Given the description of an element on the screen output the (x, y) to click on. 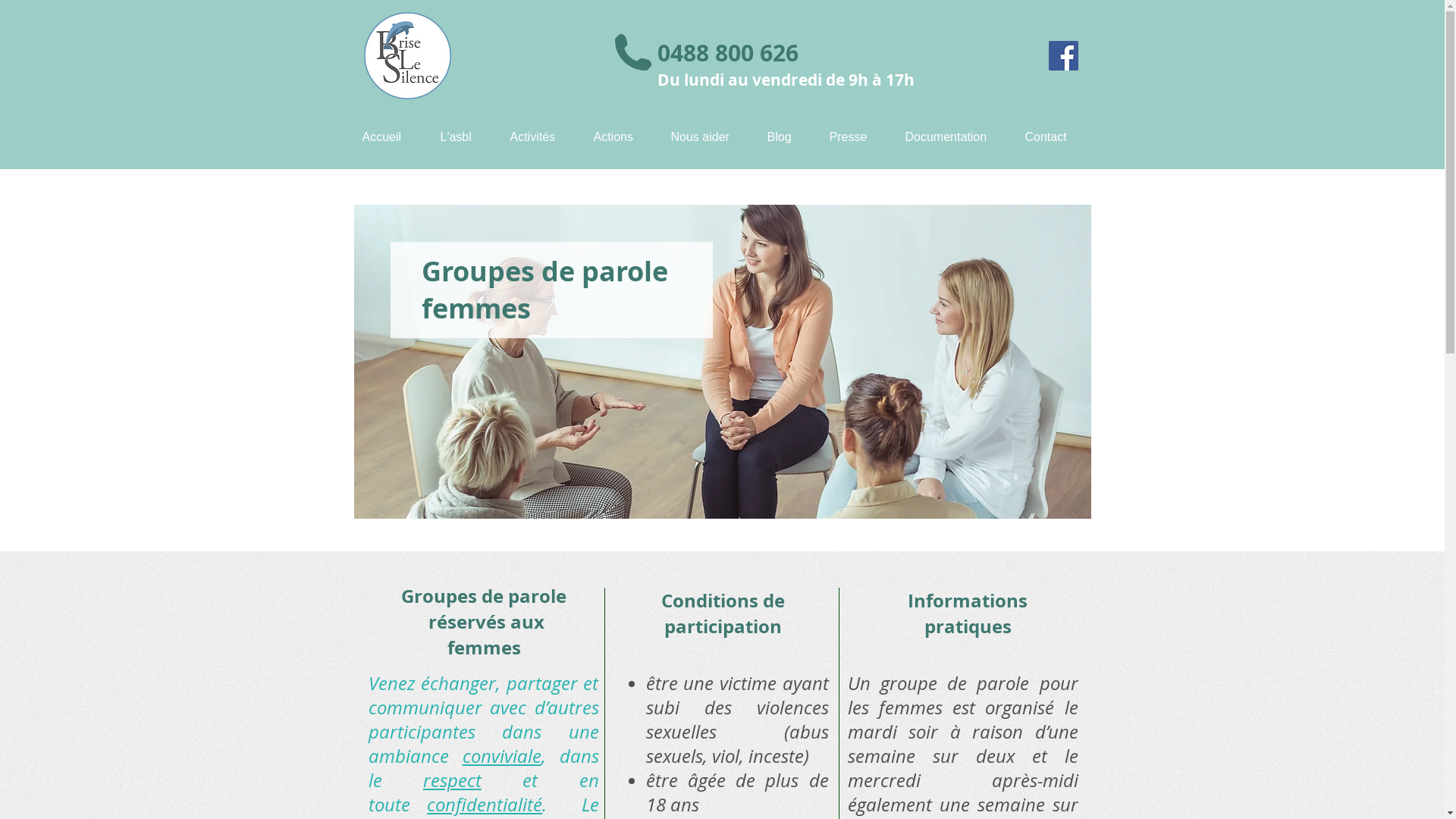
women discussion group Element type: hover (721, 361)
Contact Element type: text (1052, 136)
Accueil Element type: text (389, 136)
Blog Element type: text (786, 136)
Presse Element type: text (855, 136)
